Given the description of an element on the screen output the (x, y) to click on. 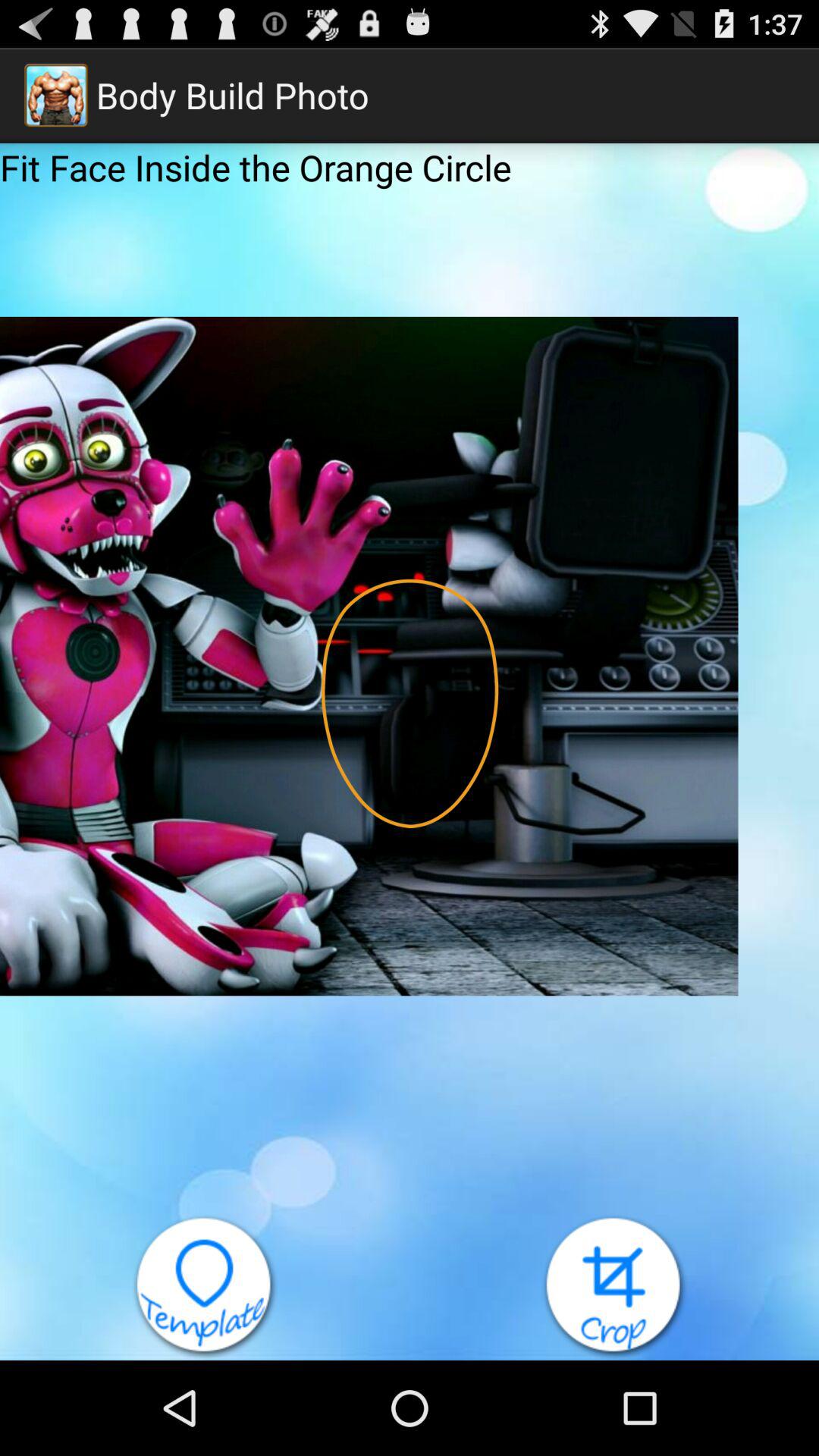
crop photo (614, 1287)
